Given the description of an element on the screen output the (x, y) to click on. 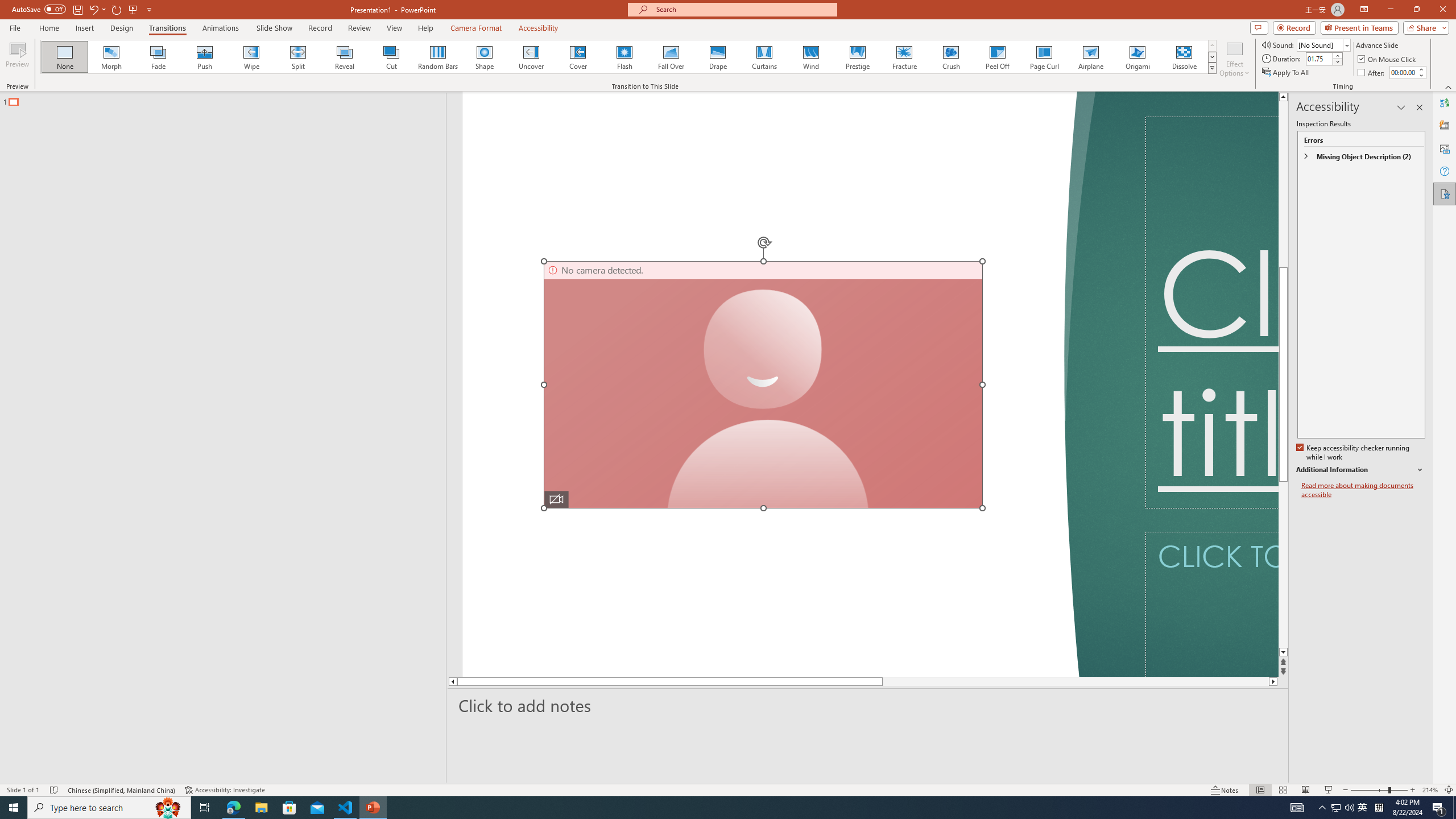
Wind (810, 56)
Accessibility (1444, 193)
Redo (117, 9)
Collapse the Ribbon (1448, 86)
Prestige (857, 56)
Close pane (1419, 107)
Sound (1324, 44)
Origami (1136, 56)
Record (320, 28)
Zoom 214% (1430, 790)
Subtitle TextBox (1211, 603)
Airplane (1090, 56)
Notes  (1225, 790)
Duration (1319, 58)
Undo (96, 9)
